Given the description of an element on the screen output the (x, y) to click on. 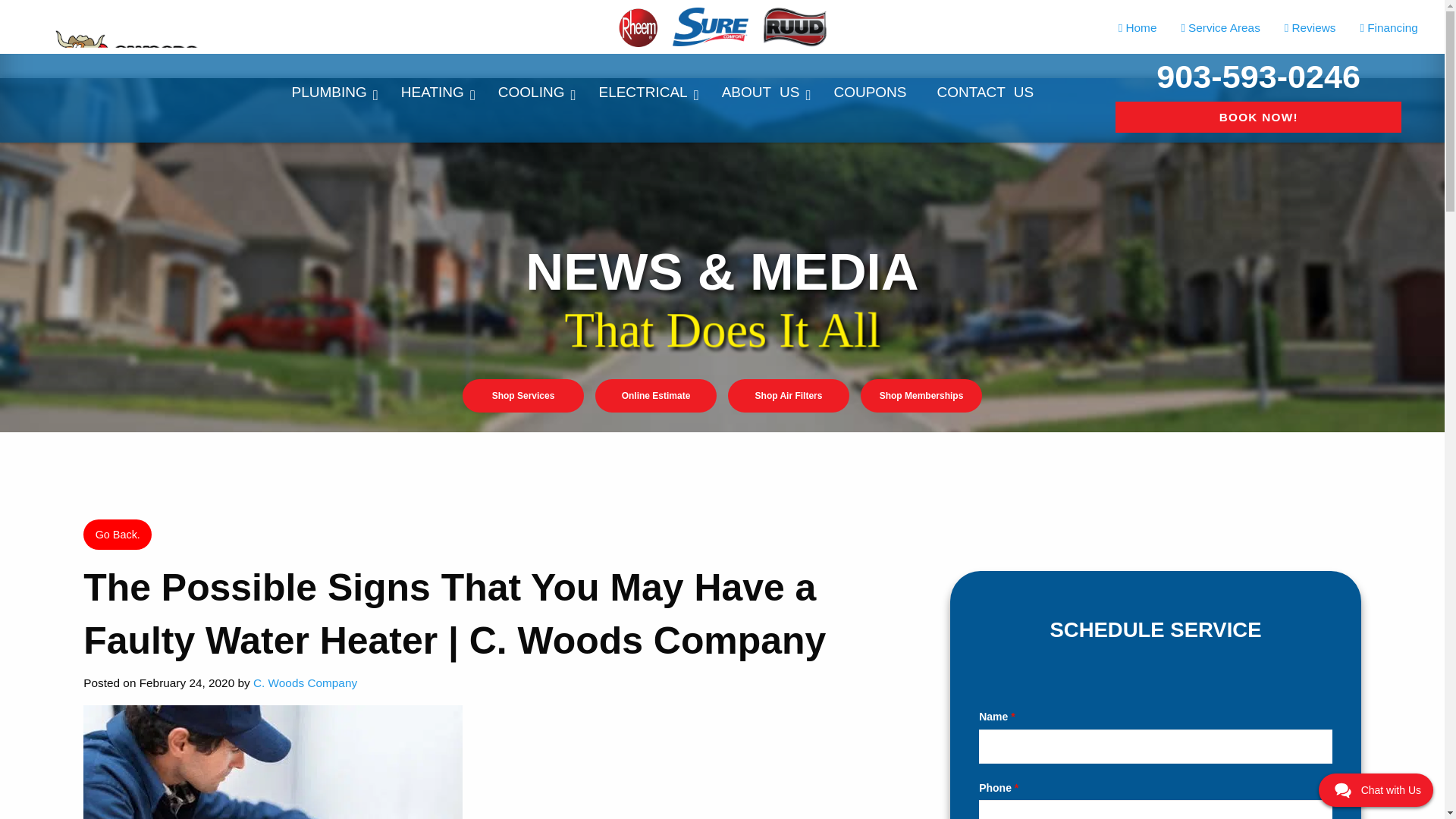
Reviews (1310, 27)
HEATING (434, 92)
Service Areas (1220, 27)
COOLING (533, 92)
Home (1137, 27)
Financing (1388, 27)
PLUMBING (330, 92)
Posts by C. Woods Company (304, 682)
